Given the description of an element on the screen output the (x, y) to click on. 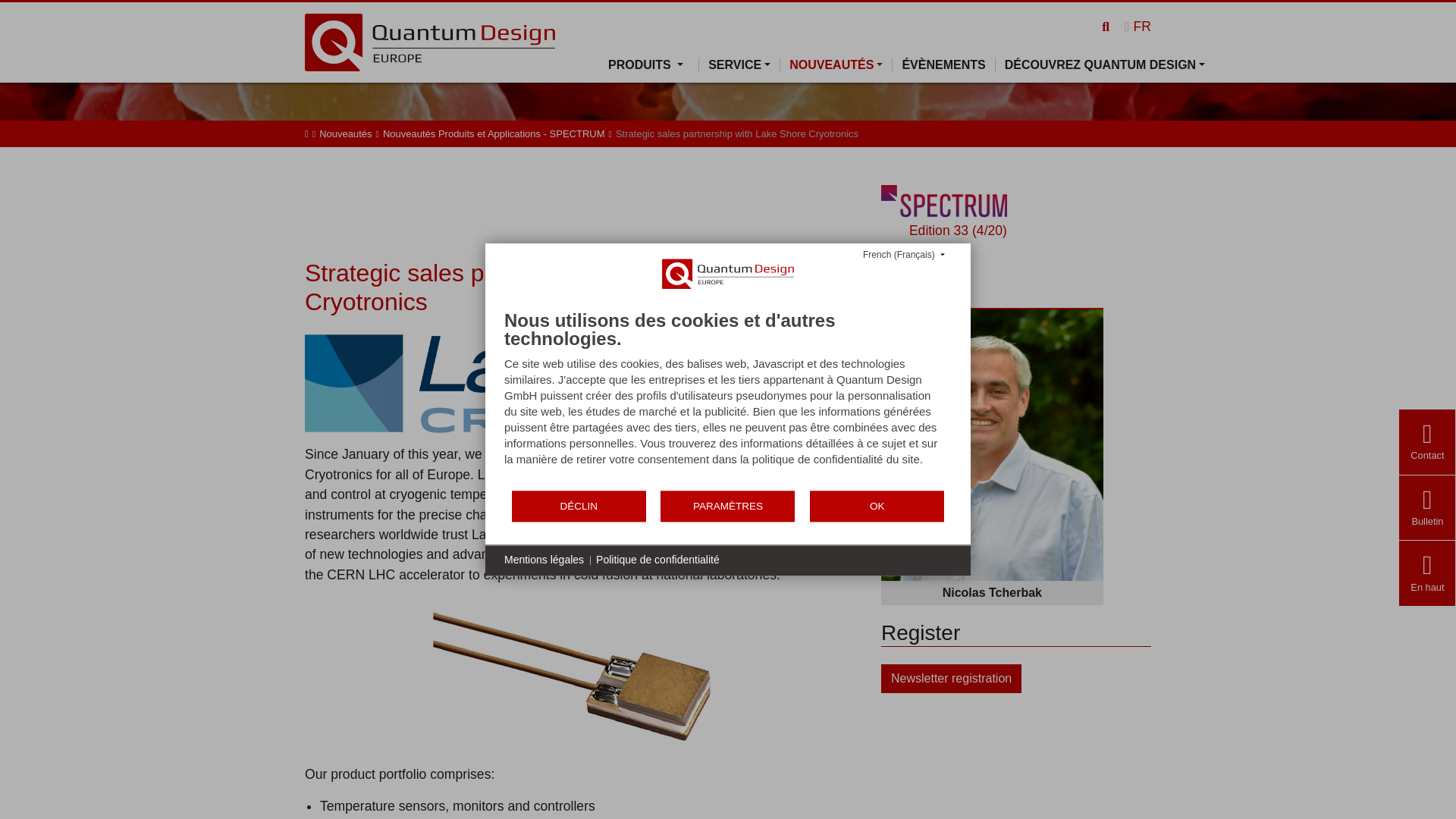
Produits (653, 64)
Bulletin (1427, 521)
Contact (1427, 454)
Langue (1137, 26)
Service (738, 64)
En haut (1427, 586)
PRODUITS (653, 64)
SERVICE (738, 64)
Quantum Design Inc. (429, 41)
